Given the description of an element on the screen output the (x, y) to click on. 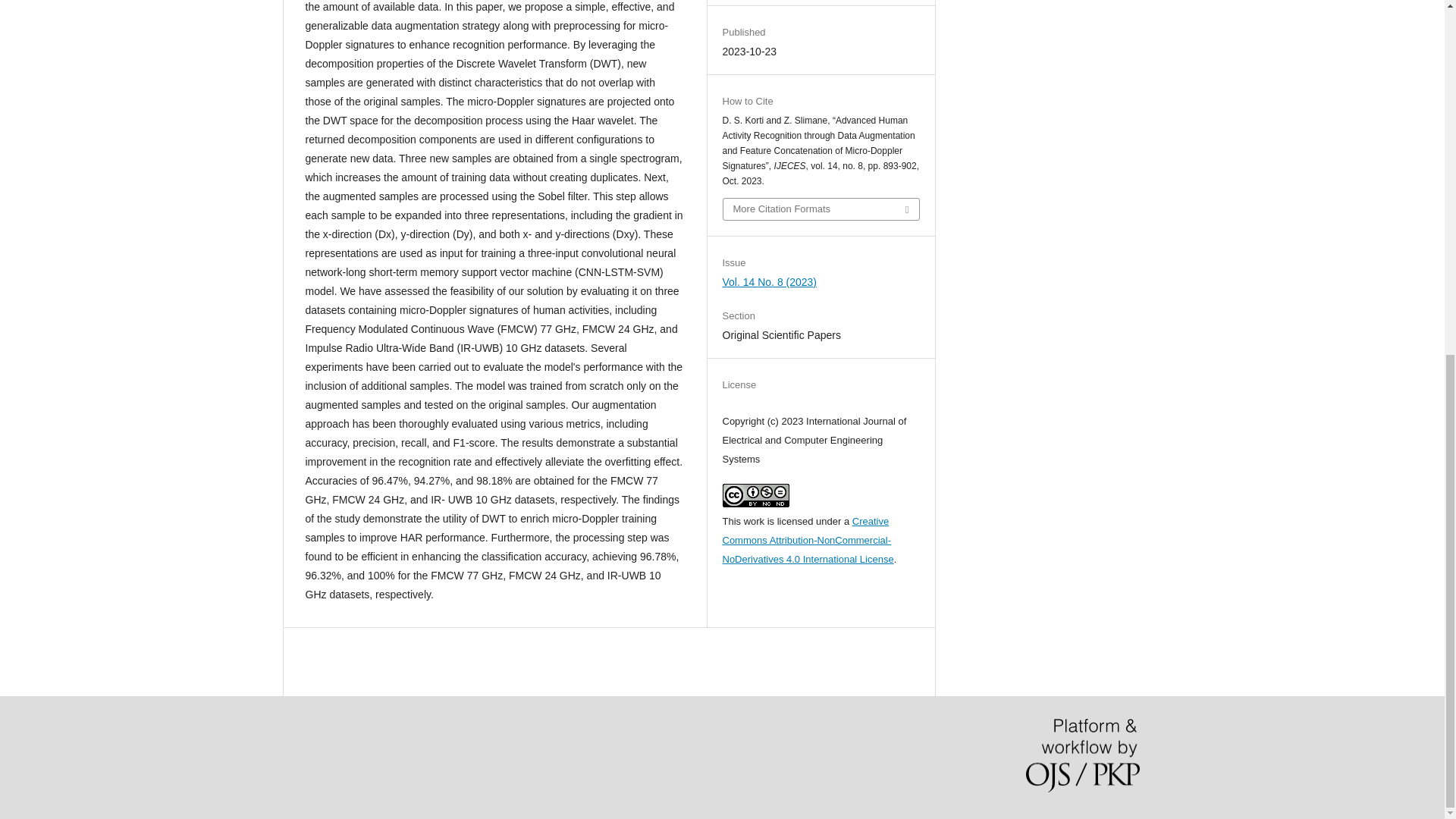
More Citation Formats (820, 209)
